Given the description of an element on the screen output the (x, y) to click on. 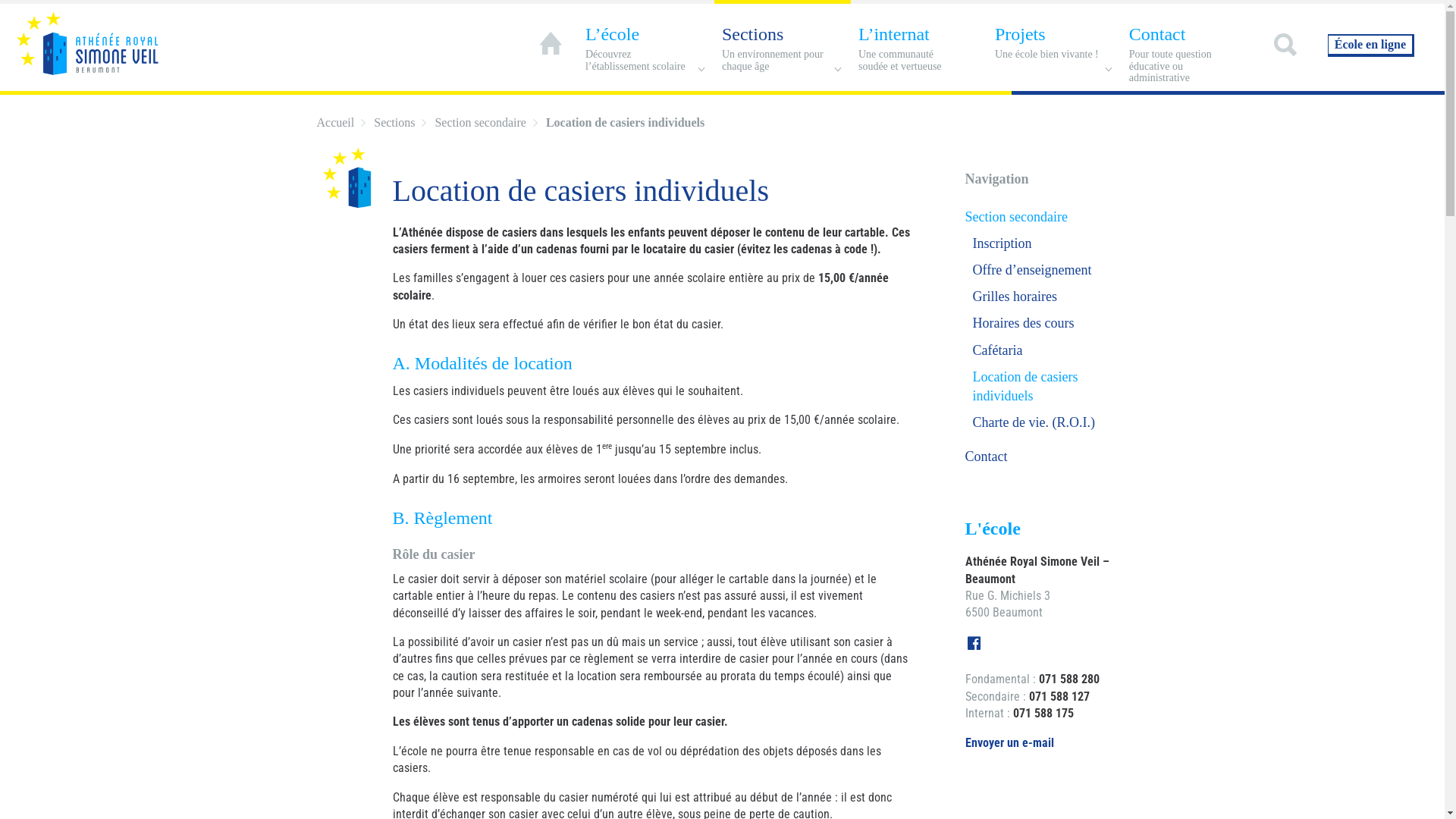
Contact Element type: text (1045, 456)
Section secondaire Element type: text (488, 122)
Envoyer un e-mail Element type: text (1008, 742)
Section secondaire Element type: text (1045, 216)
Sections Element type: text (402, 122)
Accueil Element type: hover (550, 45)
Horaires des cours Element type: text (1049, 323)
Location de casiers individuels Element type: text (1049, 386)
071 588 127 Element type: text (1058, 696)
071 588 280 Element type: text (1068, 678)
071 588 175 Element type: text (1043, 713)
Inscription Element type: text (1049, 243)
Accueil Element type: text (343, 122)
Charte de vie. (R.O.I.) Element type: text (1049, 422)
Grilles horaires Element type: text (1049, 296)
